Given the description of an element on the screen output the (x, y) to click on. 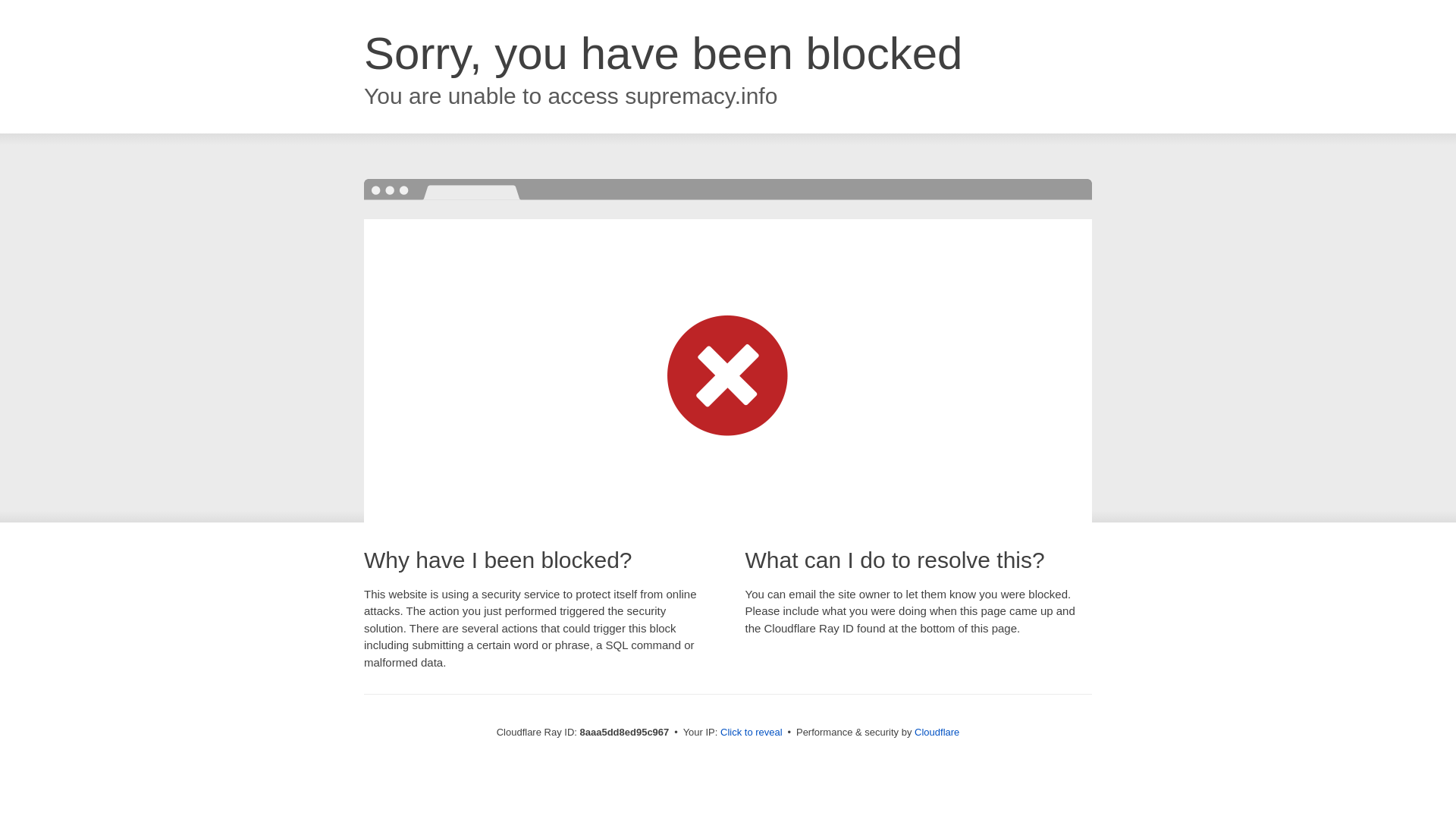
Click to reveal (751, 732)
Cloudflare (936, 731)
